Given the description of an element on the screen output the (x, y) to click on. 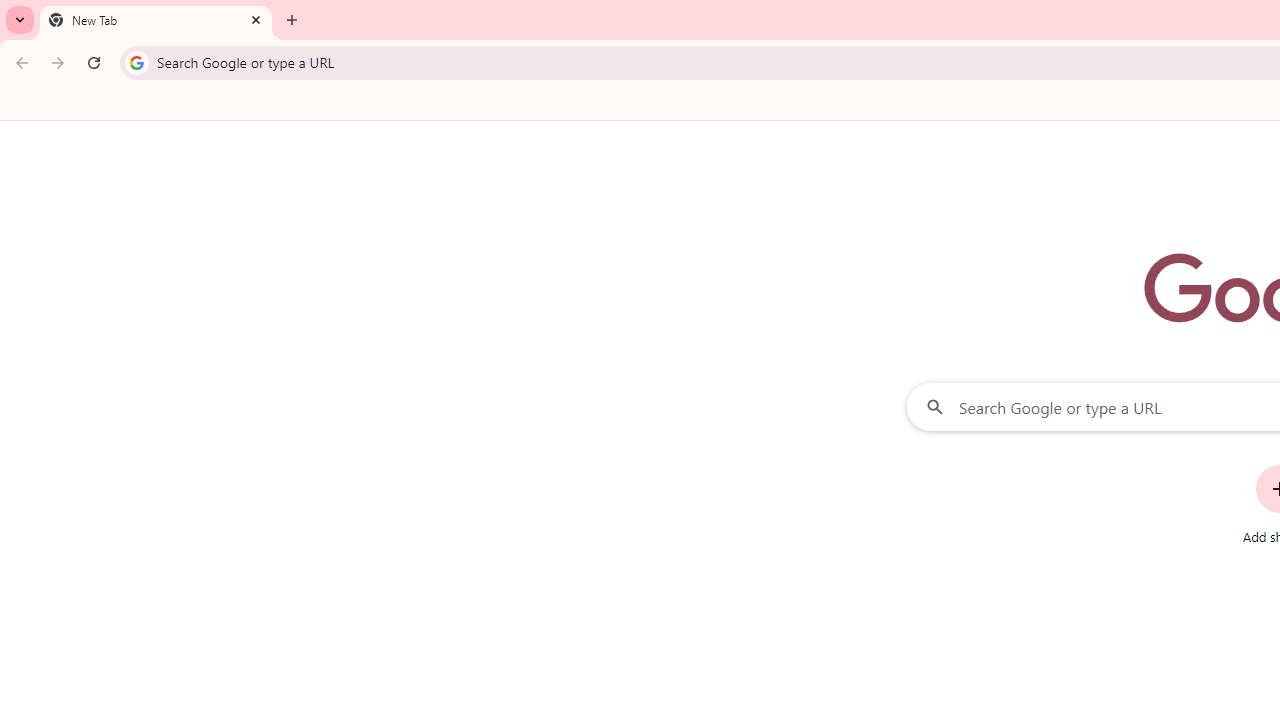
Search icon (136, 62)
New Tab (156, 20)
